Given the description of an element on the screen output the (x, y) to click on. 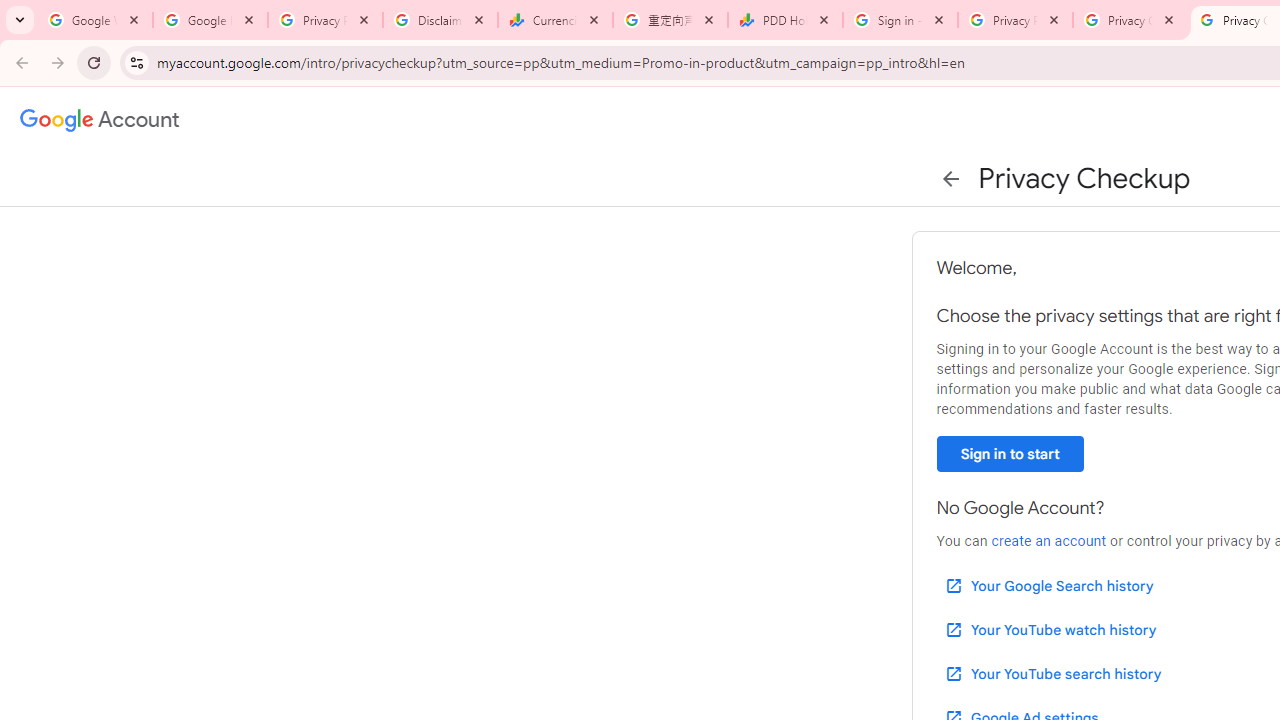
Your YouTube watch history (1049, 630)
Your Google Search history (1048, 586)
Currencies - Google Finance (555, 20)
PDD Holdings Inc - ADR (PDD) Price & News - Google Finance (785, 20)
Google Workspace Admin Community (95, 20)
Privacy Checkup (1129, 20)
Sign in - Google Accounts (900, 20)
Sign in to start (1009, 454)
